Given the description of an element on the screen output the (x, y) to click on. 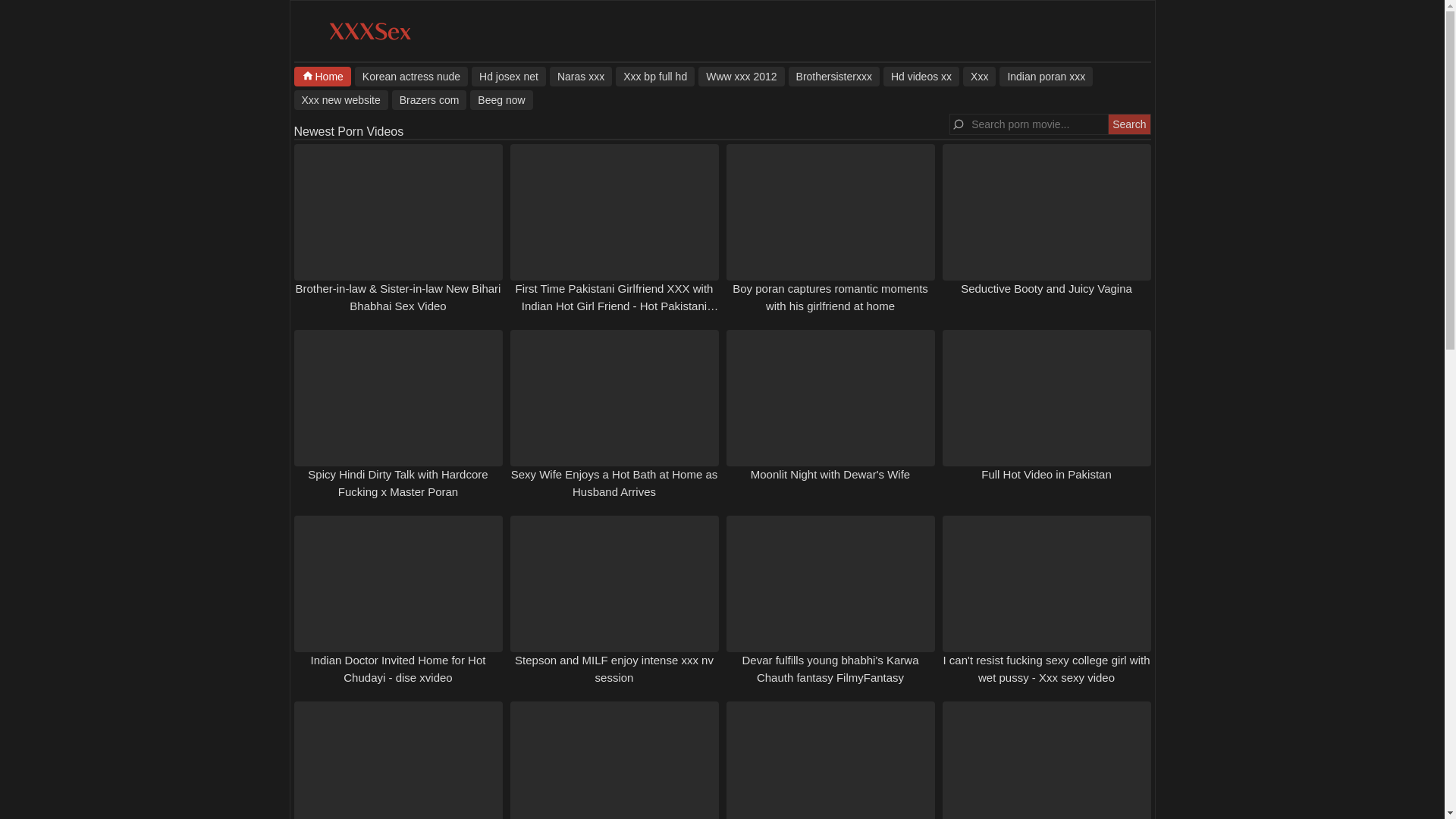
Sexy Wife Enjoys a Hot Bath at Home as Husband Arrives (614, 482)
Full Hot Video in Pakistan (1045, 473)
Xxx new website (341, 99)
Korean actress nude (411, 76)
Www xxx 2012 (741, 76)
Beeg now (501, 99)
Xxx bp full hd (654, 76)
xxx.xem-sex.org (369, 38)
Stepson and MILF enjoy intense xxx nv session (614, 668)
Naras xxx (580, 76)
Hd videos xx (921, 76)
